Given the description of an element on the screen output the (x, y) to click on. 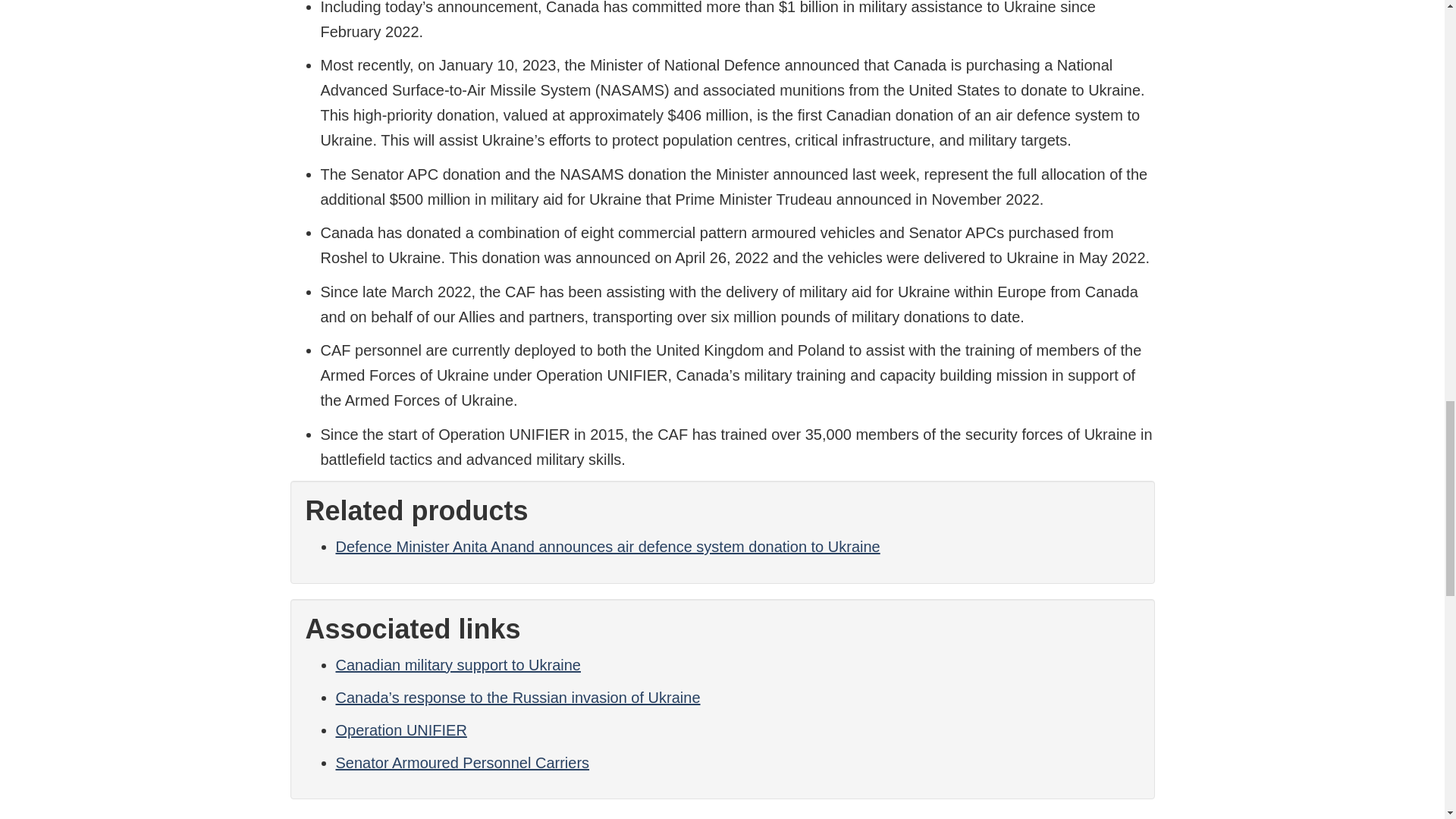
Operation UNIFIER (399, 729)
Senator Armoured Personnel Carriers (461, 762)
Canadian military support to Ukraine (457, 664)
Senator Armoured Personnel Carriers (461, 762)
Operation UNIFIER (399, 729)
Canadian military support to Ukraine (457, 664)
